Given the description of an element on the screen output the (x, y) to click on. 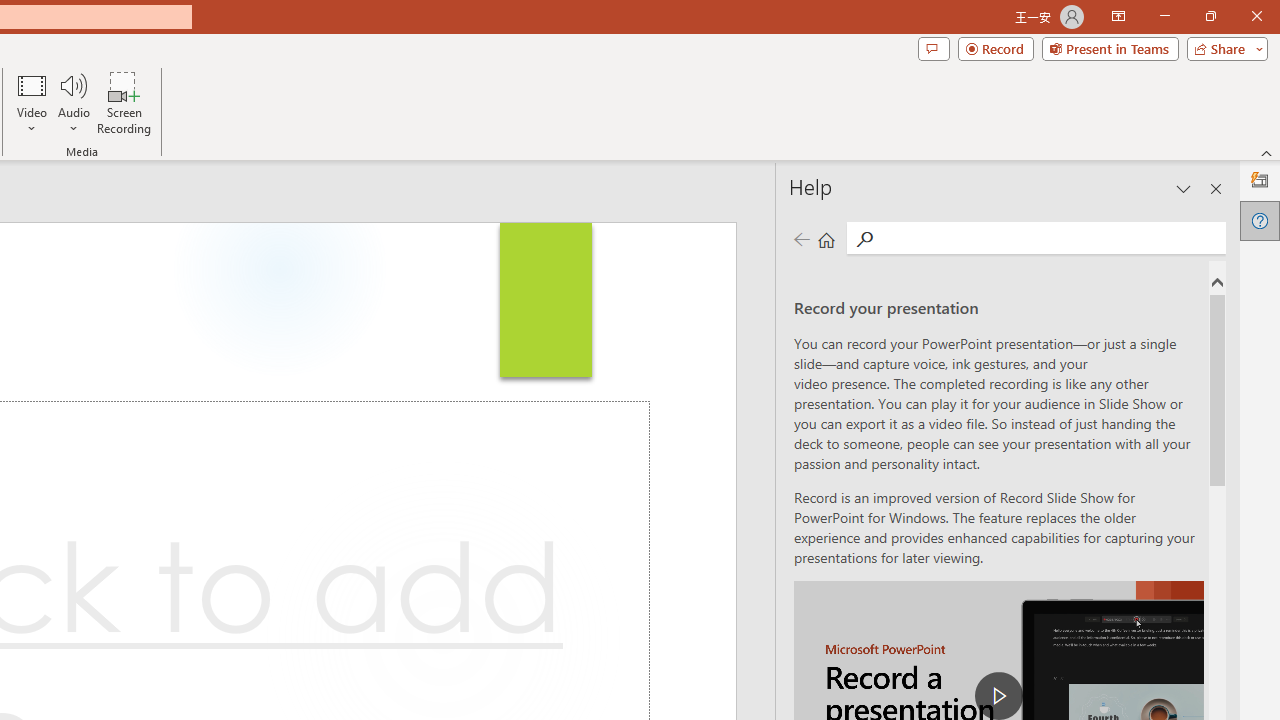
Screen Recording... (123, 102)
play Record a Presentation (998, 695)
Video (31, 102)
